Given the description of an element on the screen output the (x, y) to click on. 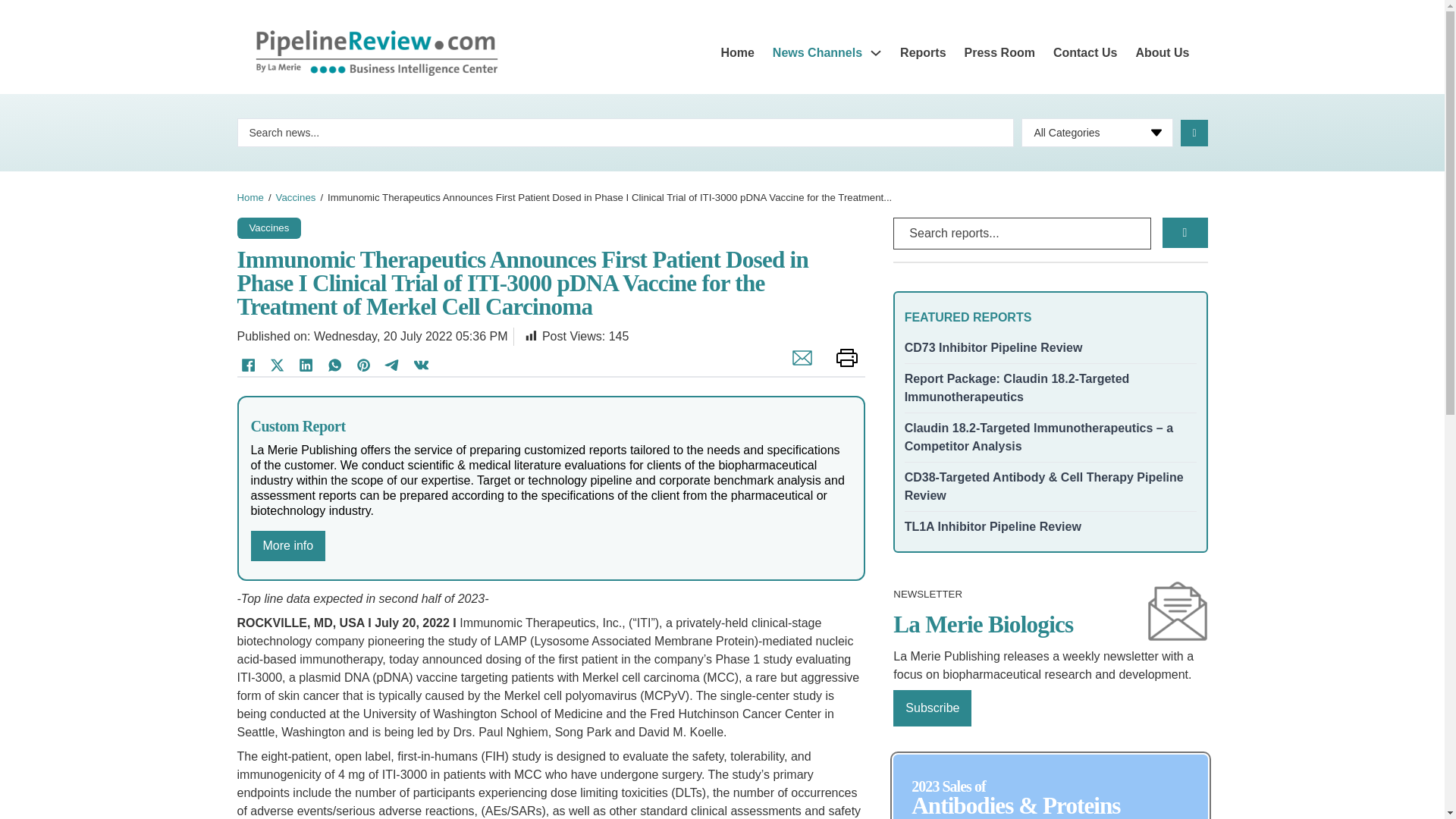
Vaccines (268, 226)
About Us (1162, 53)
Contact Us (1084, 53)
Press Room (999, 53)
Reports (921, 53)
News Channels (817, 53)
All Categories (1097, 132)
Share by Email (798, 365)
Vaccines (295, 197)
Home (737, 53)
Home (249, 197)
Share by Email (798, 365)
